Given the description of an element on the screen output the (x, y) to click on. 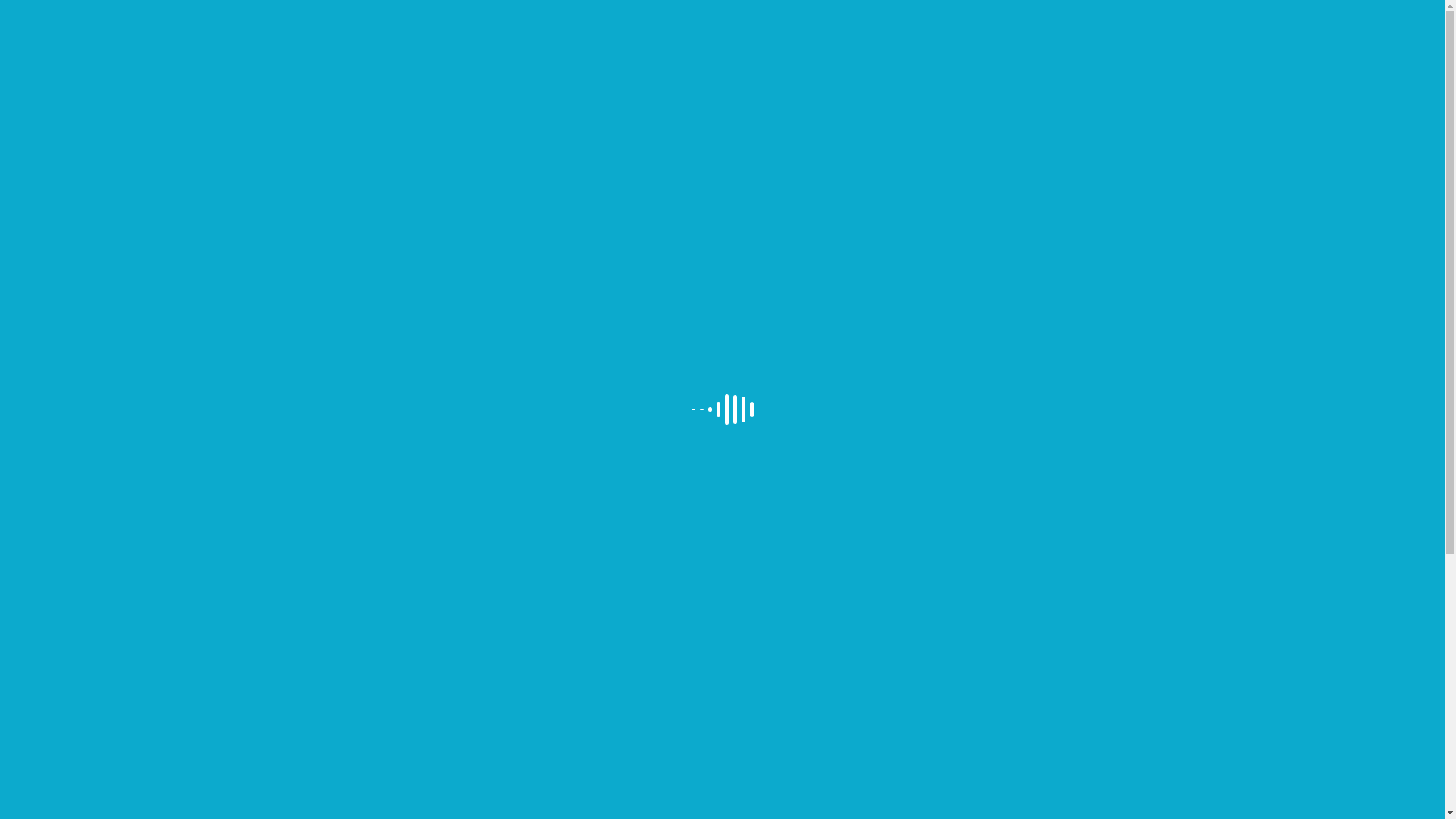
PAKETI Element type: text (974, 88)
Info@ssoft.ba Element type: text (76, 20)
USLUGE Element type: text (885, 88)
O NAMA Element type: text (793, 88)
+387 66 464 063 Element type: text (203, 20)
KONTAKT Element type: text (1165, 88)
OSTALO Element type: text (1065, 88)
